Given the description of an element on the screen output the (x, y) to click on. 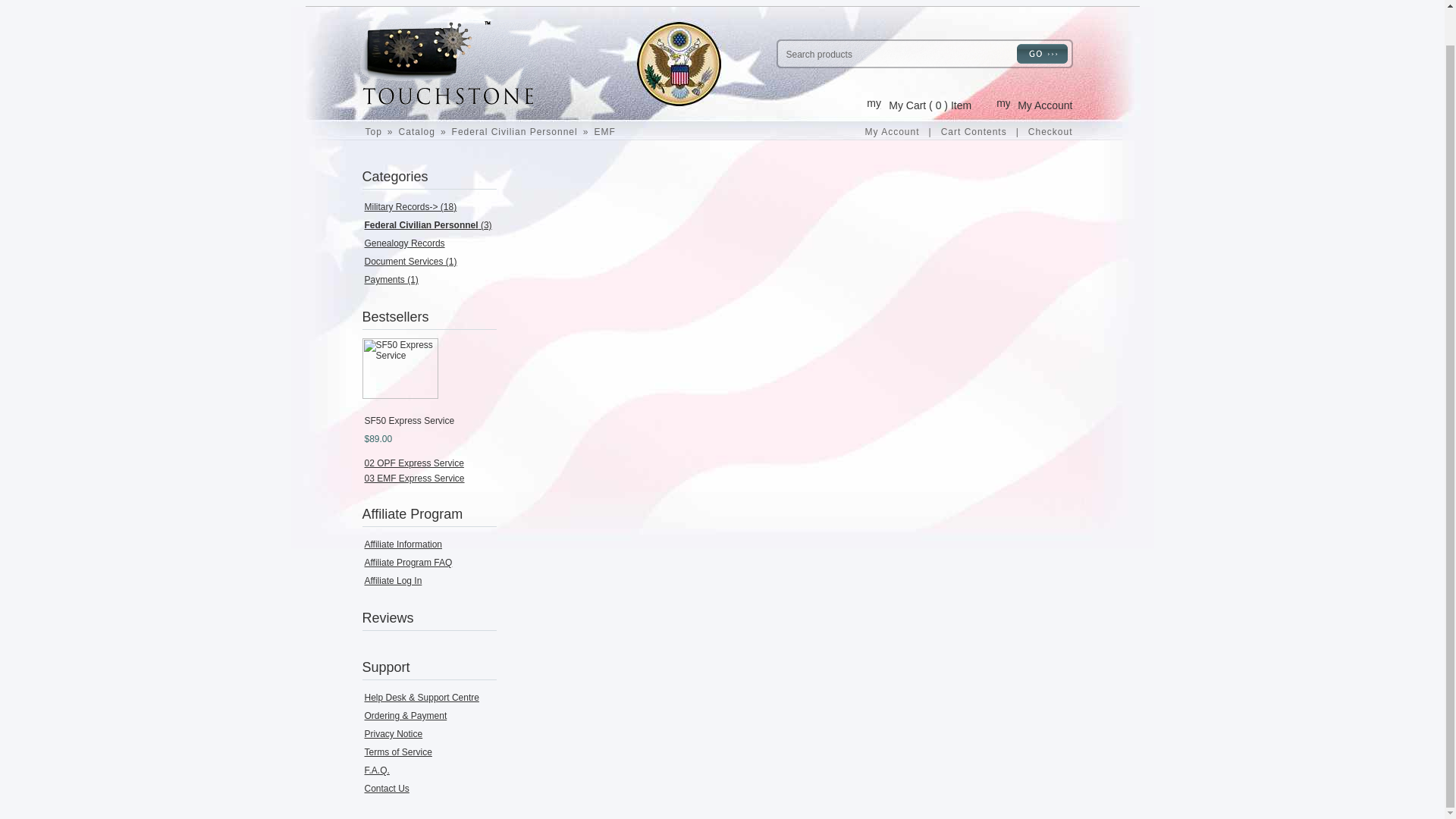
EMF (604, 131)
Federal Civilian Personnel (514, 131)
Top (373, 131)
Affiliate Program FAQ (407, 562)
Affiliate Log In (393, 580)
Search products (895, 53)
Privacy Notice (393, 733)
Cart Contents (973, 131)
Catalog (417, 131)
03 EMF Express Service (414, 478)
